Given the description of an element on the screen output the (x, y) to click on. 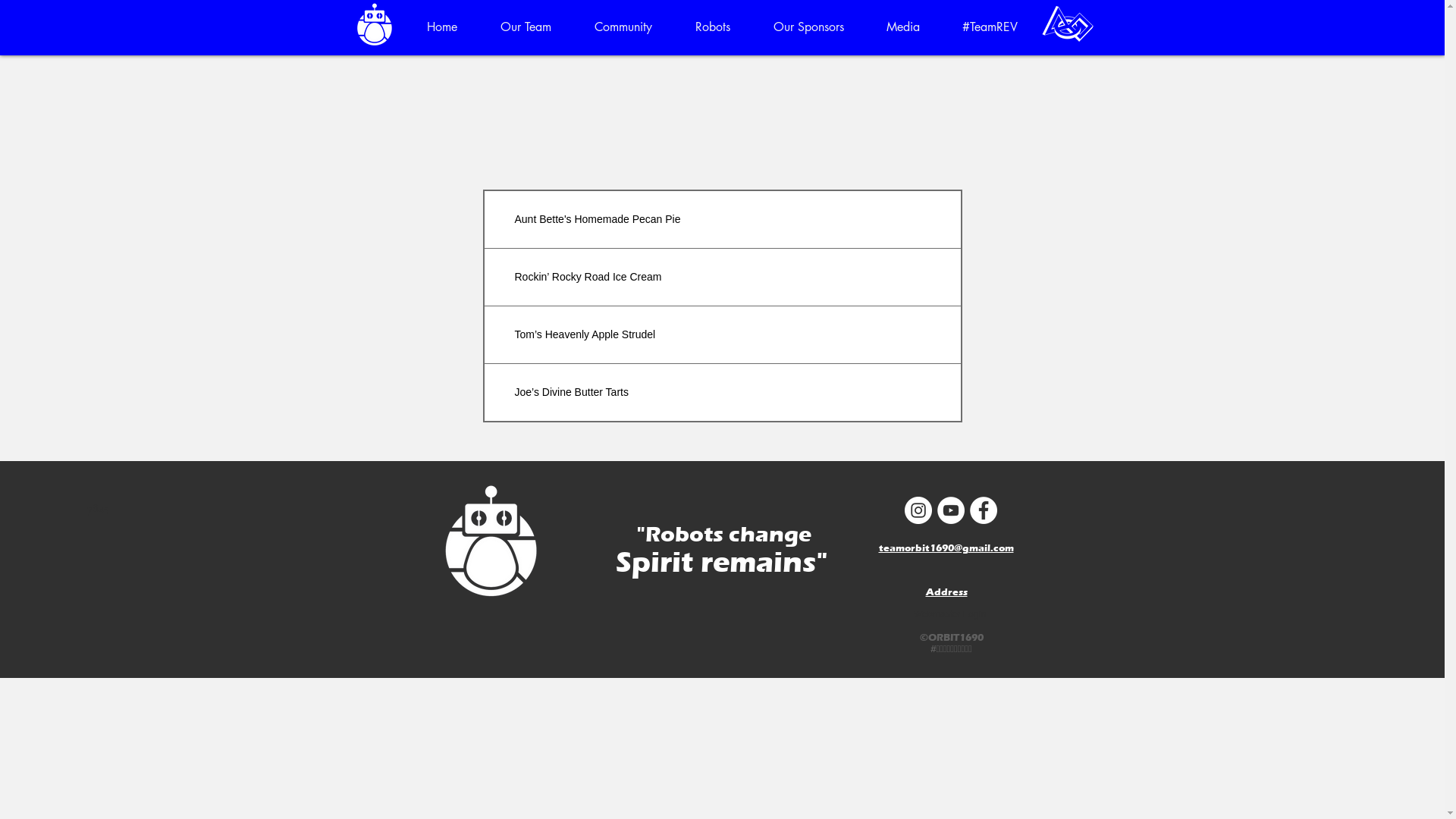
1690 orbit logo Element type: hover (490, 540)
Our Team Element type: text (526, 26)
#TeamREV Element type: text (989, 26)
1690 Home Element type: hover (374, 24)
Home Element type: text (441, 26)
Webmaster Login Element type: text (948, 614)
Address Element type: text (945, 591)
teamorbit1690@gmail.com Element type: text (945, 545)
Robots Element type: text (712, 26)
Our Sponsors Element type: text (808, 26)
7845 Element type: text (97, 507)
FIRST Inspires Element type: hover (1067, 23)
